Given the description of an element on the screen output the (x, y) to click on. 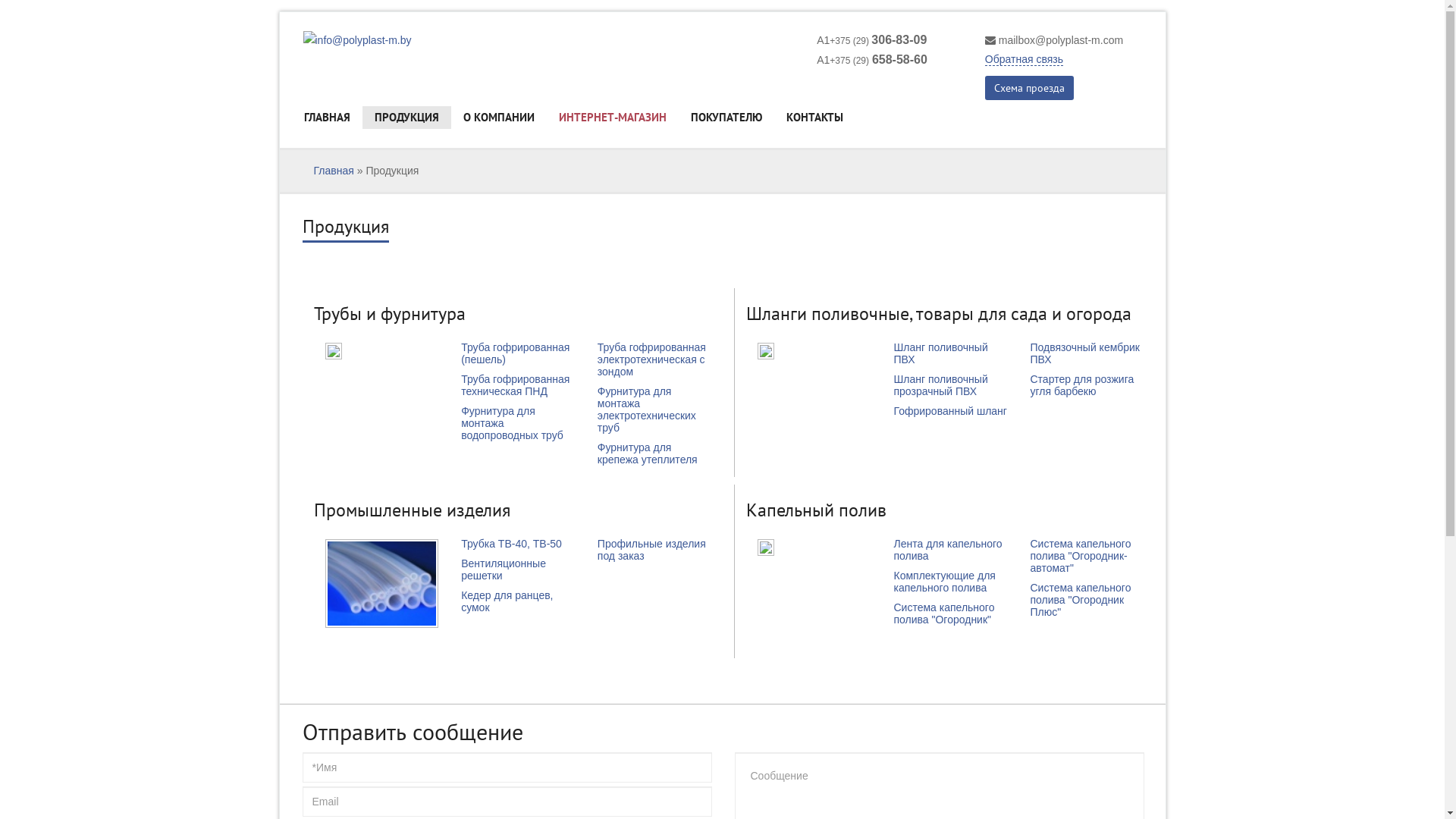
mailbox@polyplast-m.com Element type: text (1060, 40)
info@polyplast-m.by Element type: hover (357, 40)
